Given the description of an element on the screen output the (x, y) to click on. 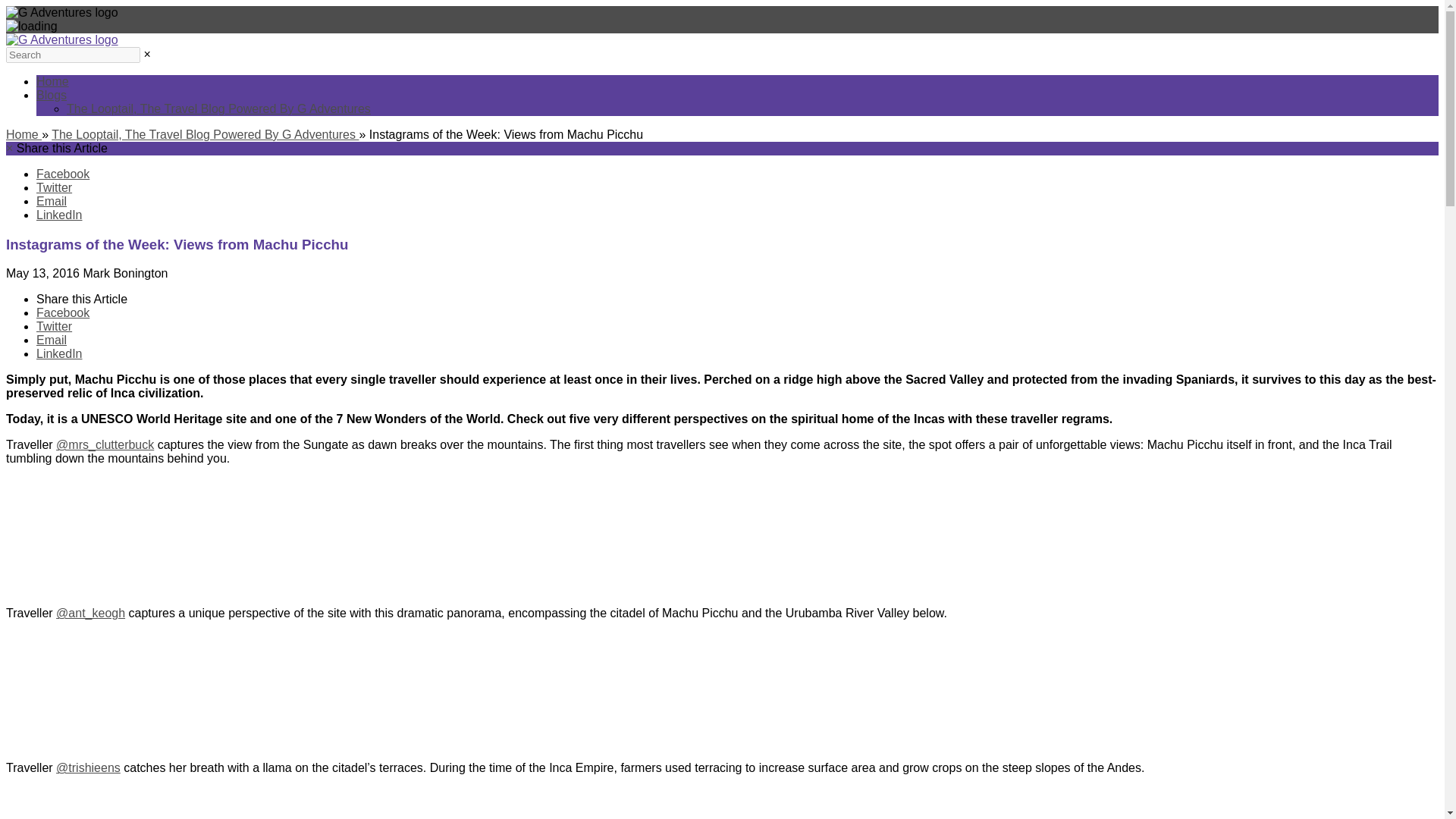
Twitter (53, 326)
LinkedIn (59, 353)
Facebook (62, 173)
Facebook (62, 312)
Email (51, 339)
Email (51, 201)
Home (23, 133)
G Adventures (61, 39)
Twitter (53, 187)
The Looptail, The Travel Blog Powered By G Adventures (204, 133)
LinkedIn (59, 214)
Home (52, 81)
The Looptail, The Travel Blog Powered By G Adventures (218, 108)
Blogs (51, 94)
